Given the description of an element on the screen output the (x, y) to click on. 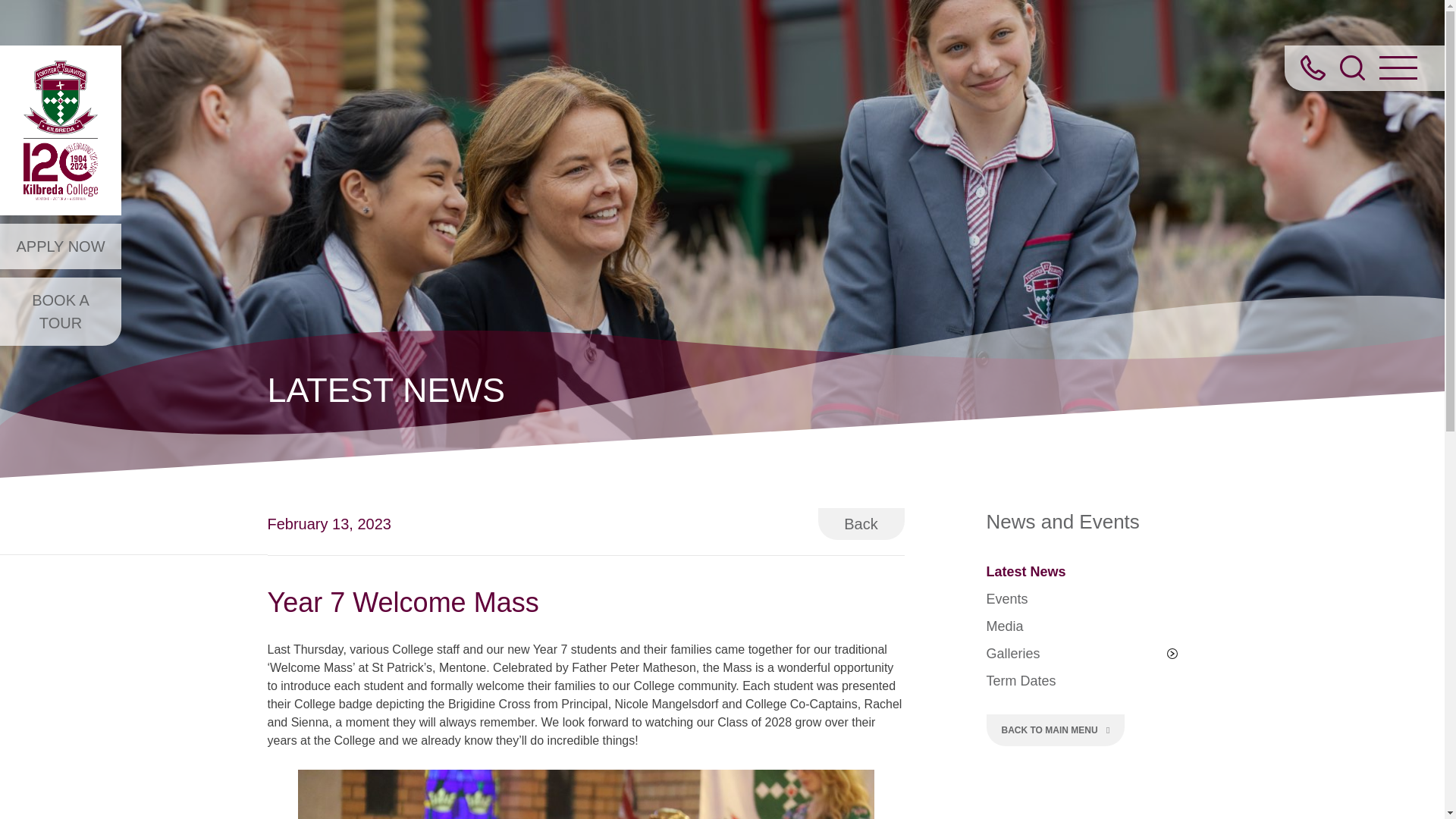
APPLY NOW (60, 246)
BOOK A TOUR (60, 311)
